Given the description of an element on the screen output the (x, y) to click on. 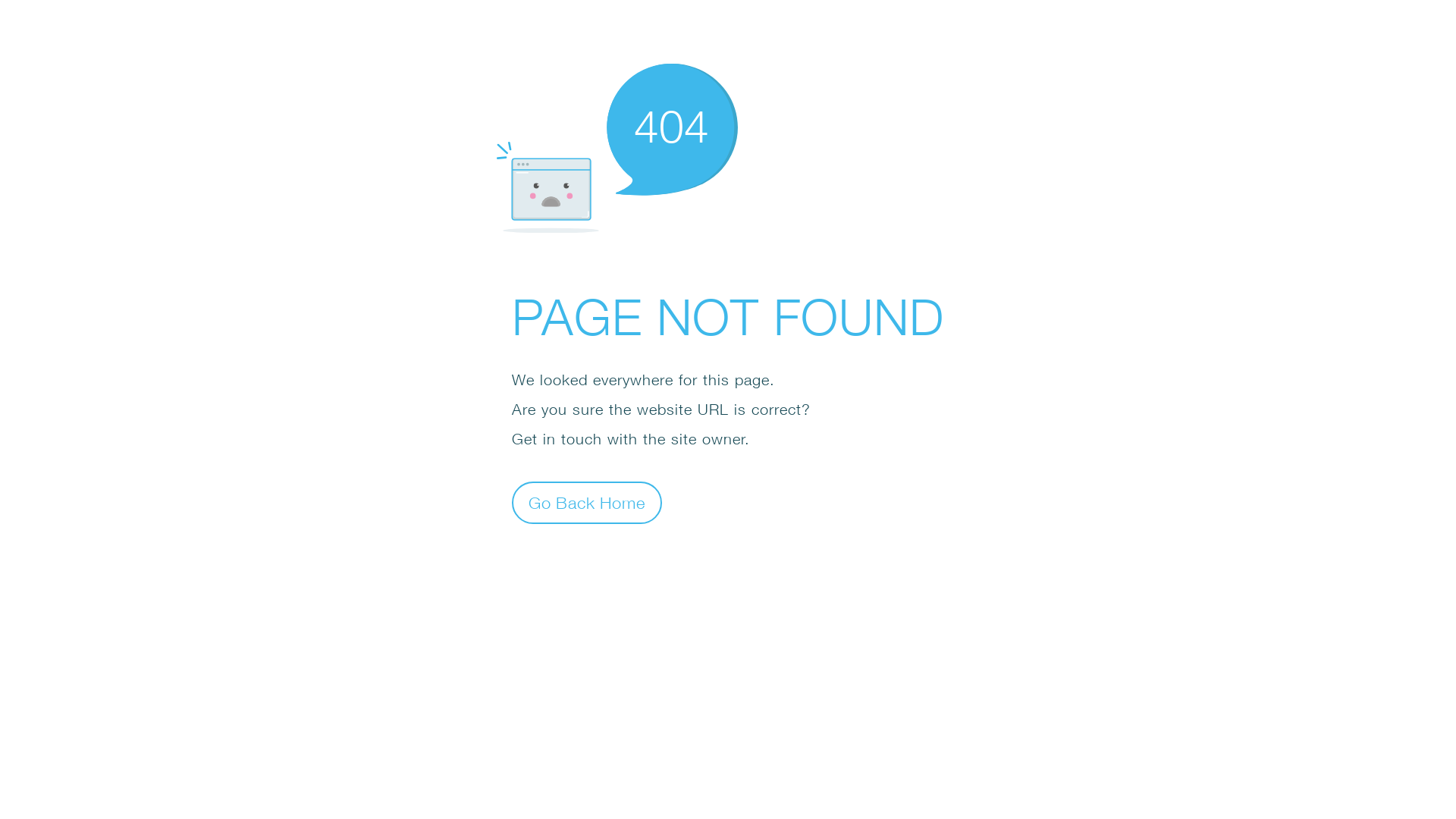
Go Back Home Element type: text (586, 502)
